Given the description of an element on the screen output the (x, y) to click on. 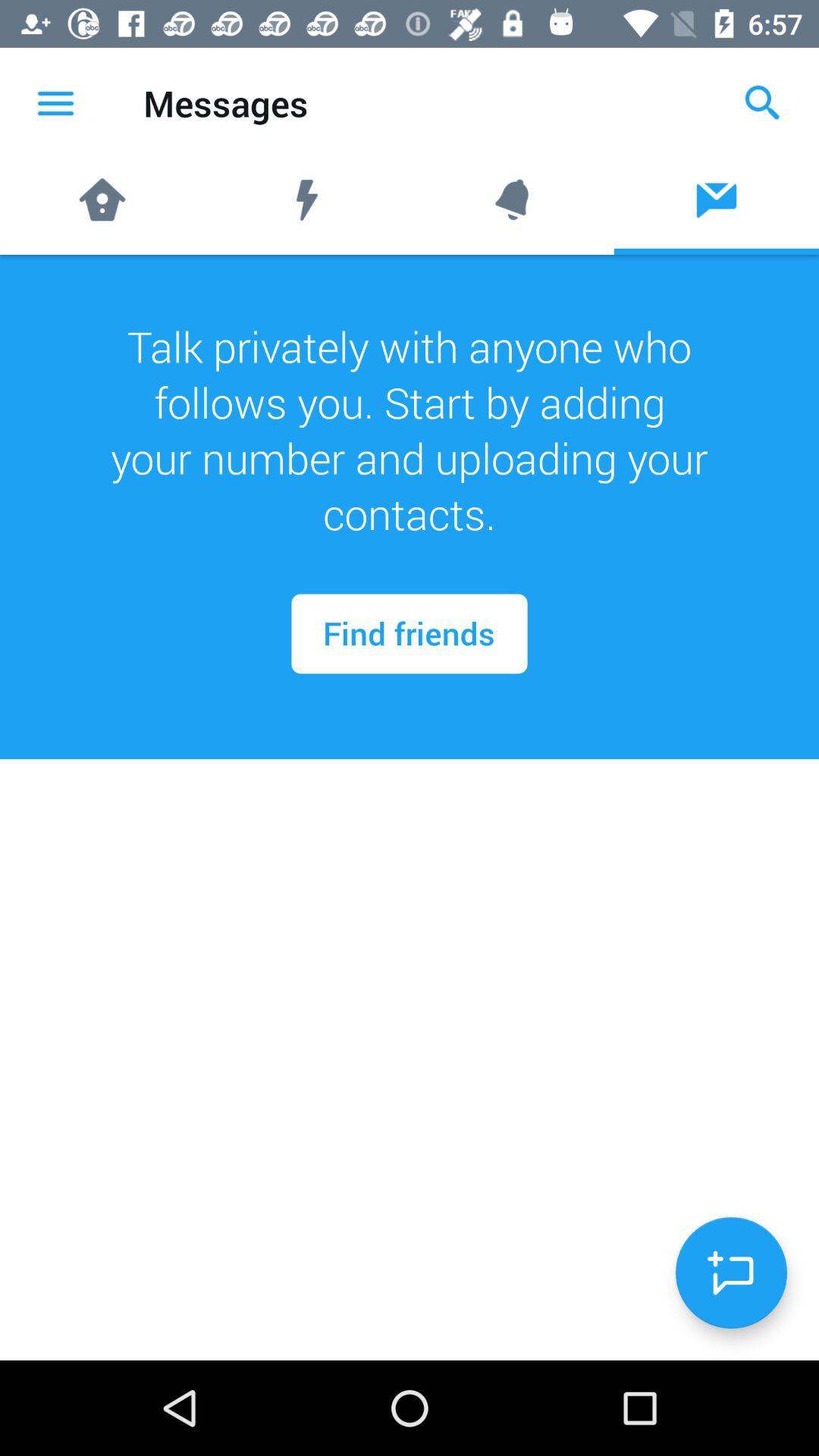
choose the icon at the bottom right corner (731, 1272)
